Given the description of an element on the screen output the (x, y) to click on. 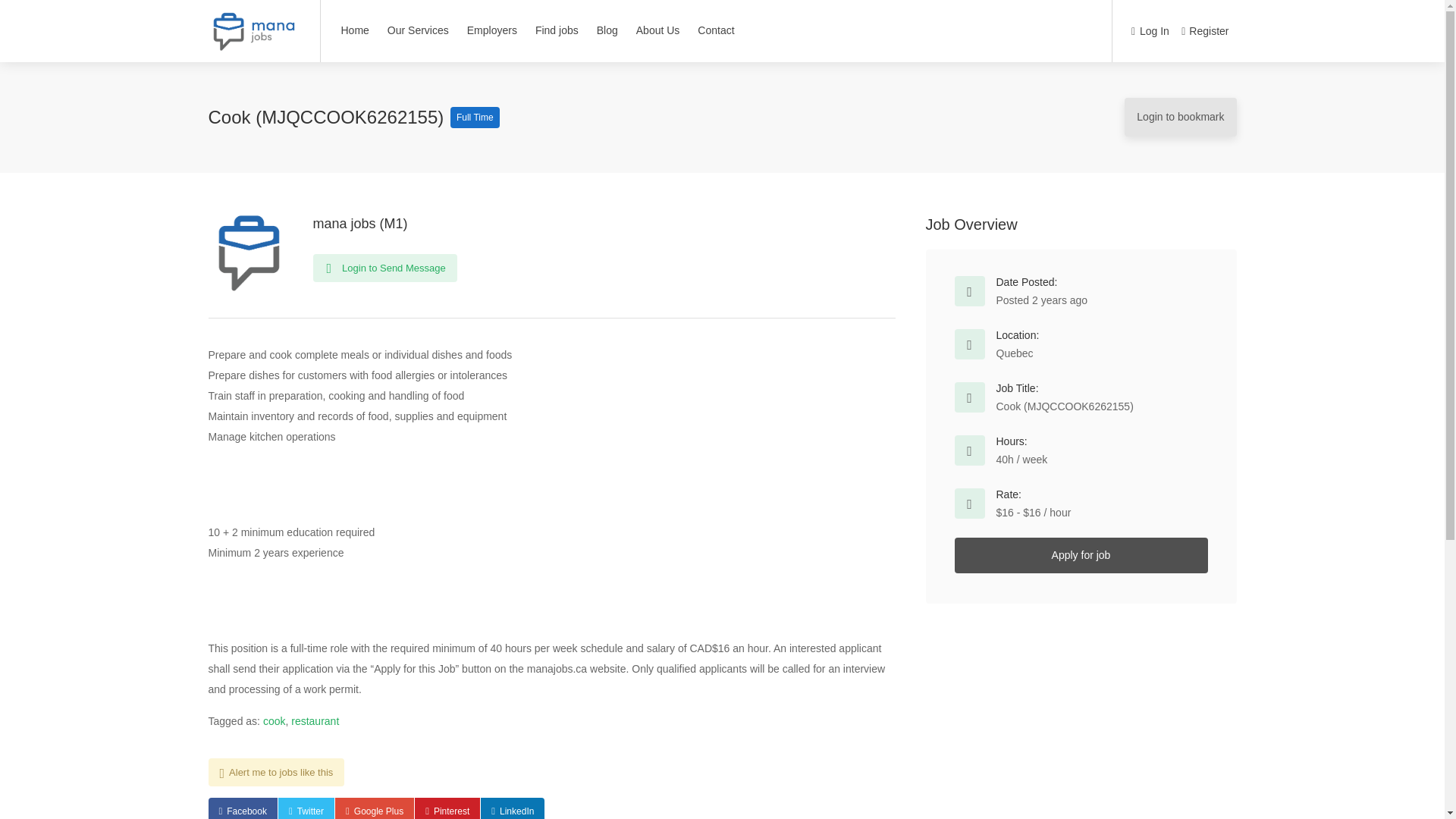
Employers (491, 30)
Apply for job (1080, 555)
LinkedIn (512, 808)
Twitter (306, 808)
Google Plus (373, 808)
Find jobs (556, 30)
Manajobs (253, 36)
Twitter (306, 808)
restaurant (315, 720)
Alert me to jobs like this (275, 772)
